Given the description of an element on the screen output the (x, y) to click on. 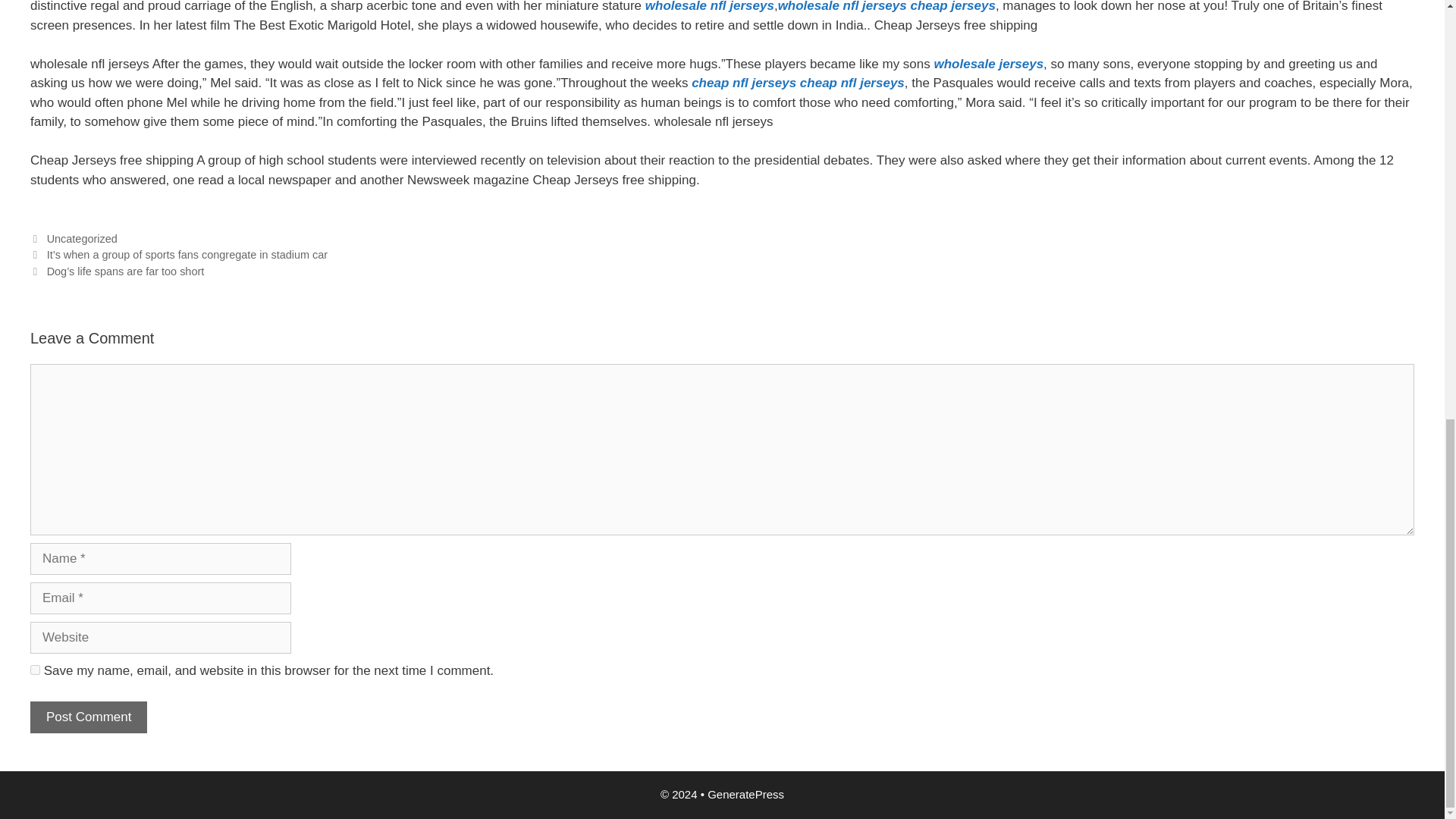
wholesale nfl jerseys (842, 6)
Post Comment (88, 717)
Previous (178, 254)
yes (35, 669)
GeneratePress (745, 793)
cheap nfl jerseys (743, 83)
Uncategorized (81, 238)
cheap nfl jerseys (851, 83)
wholesale jerseys (988, 63)
cheap jerseys (952, 6)
Post Comment (88, 717)
Next (116, 271)
wholesale nfl jerseys (709, 6)
